Given the description of an element on the screen output the (x, y) to click on. 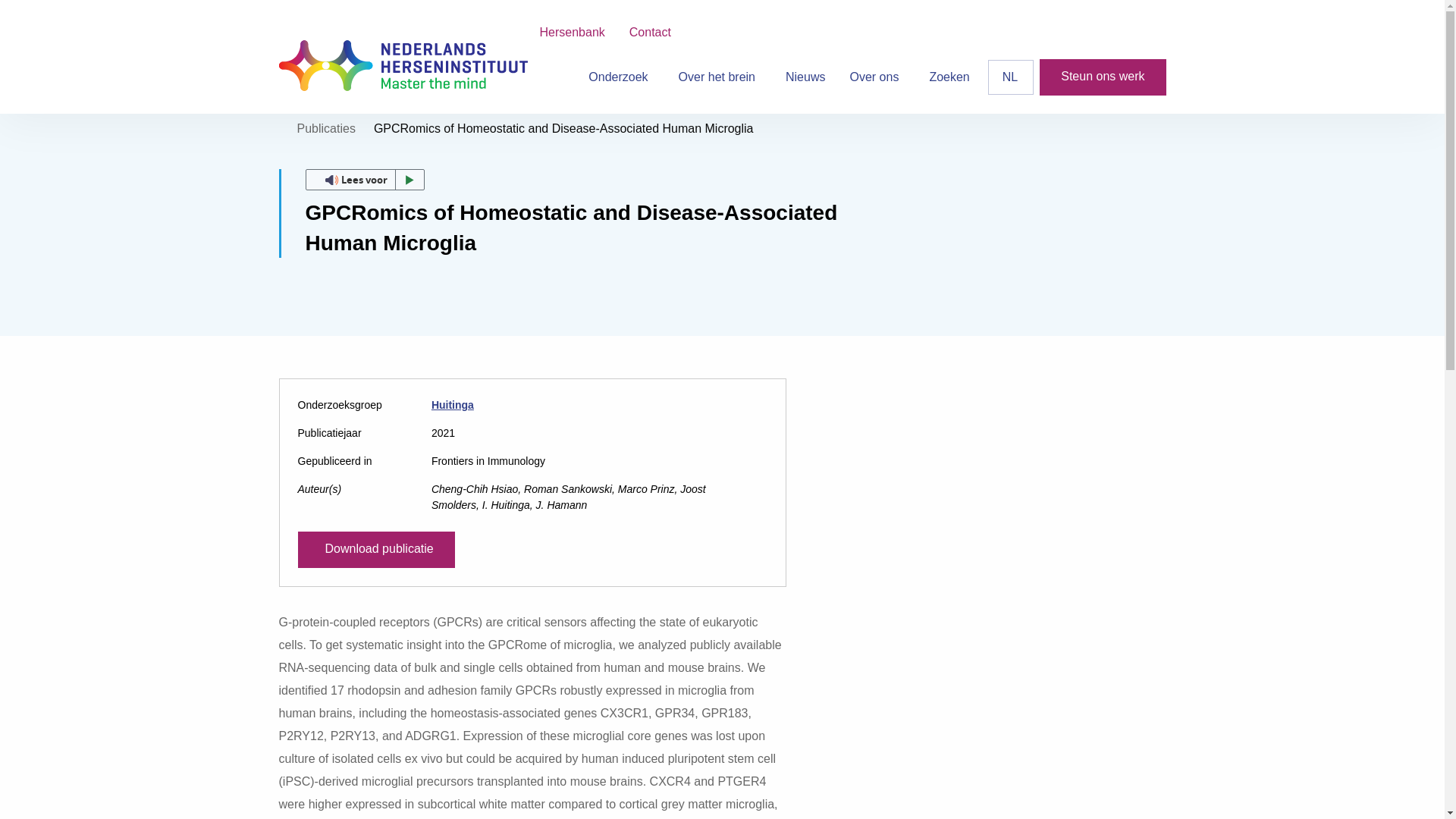
Onderzoek (620, 76)
Over ons (877, 76)
Laat de tekst voorlezen met ReadSpeaker webReader (363, 179)
Zoeken (949, 76)
Ga naar Publicaties. (326, 128)
Over het brein (719, 76)
Steun ons werk (1102, 76)
NL (1011, 77)
Hersenbank (572, 32)
Nieuws (805, 76)
